Given the description of an element on the screen output the (x, y) to click on. 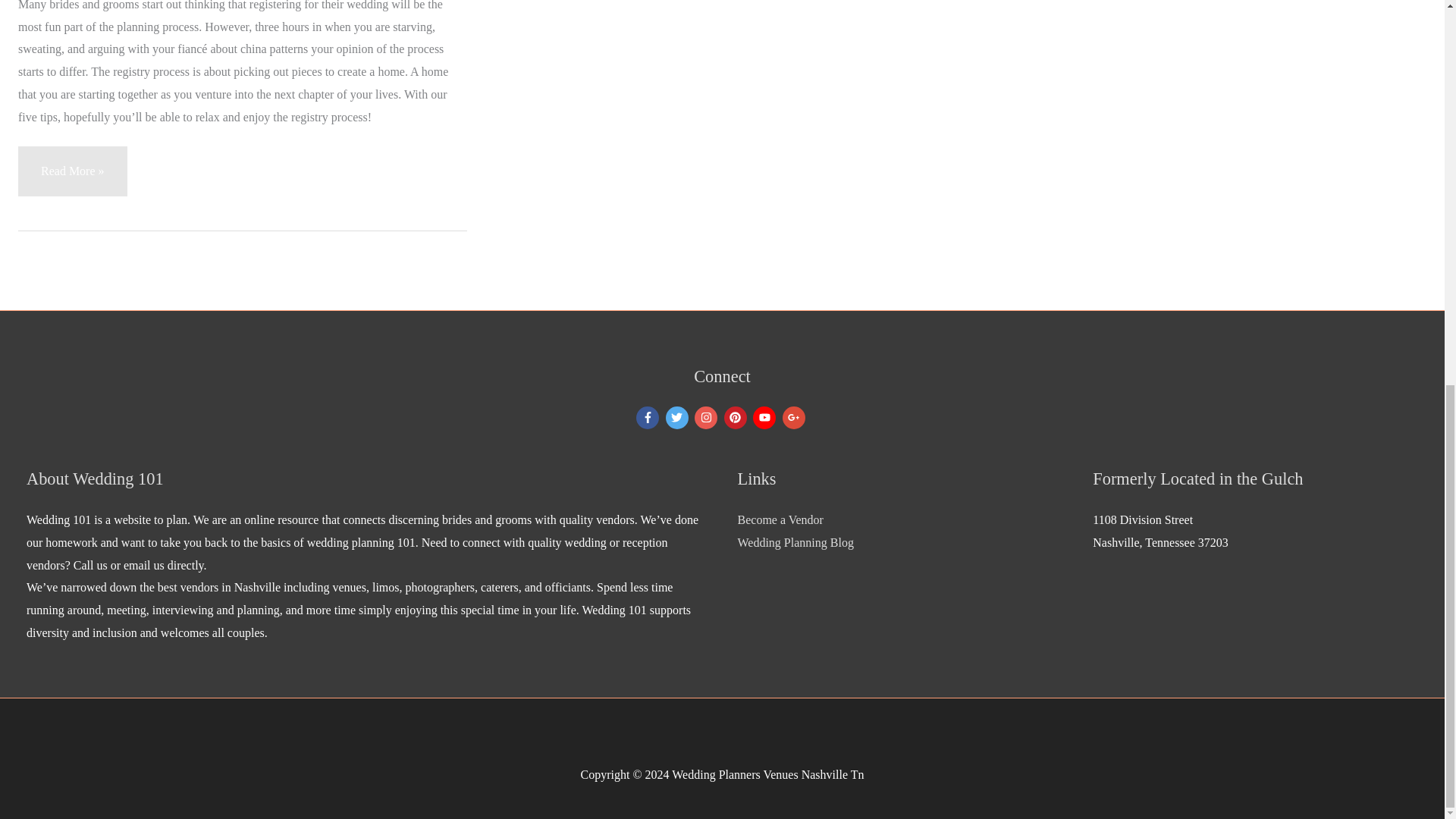
Wedding Planning Blog (794, 542)
Become a Vendor (779, 519)
